Given the description of an element on the screen output the (x, y) to click on. 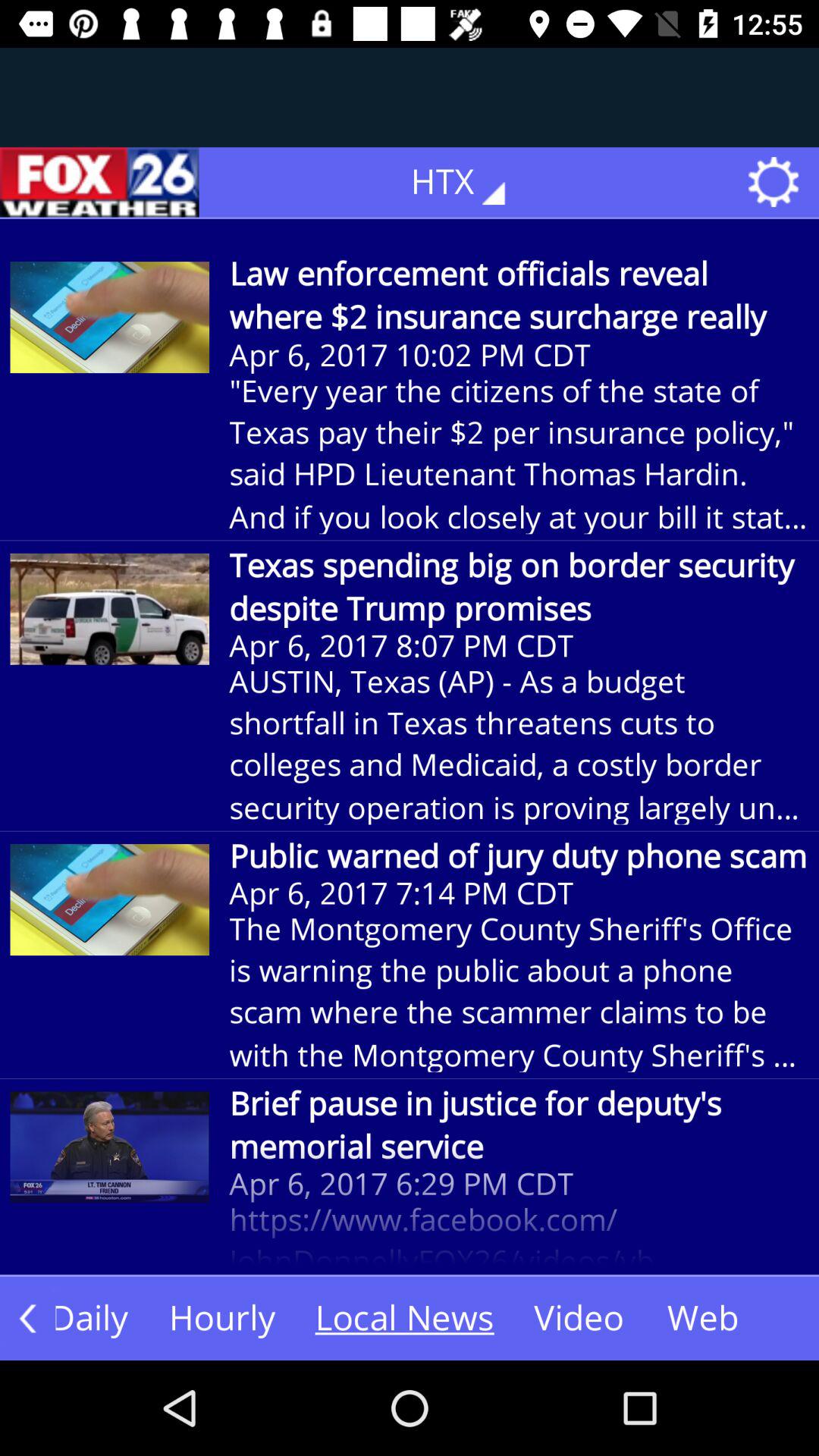
tap the icon next to the htx (99, 182)
